Given the description of an element on the screen output the (x, y) to click on. 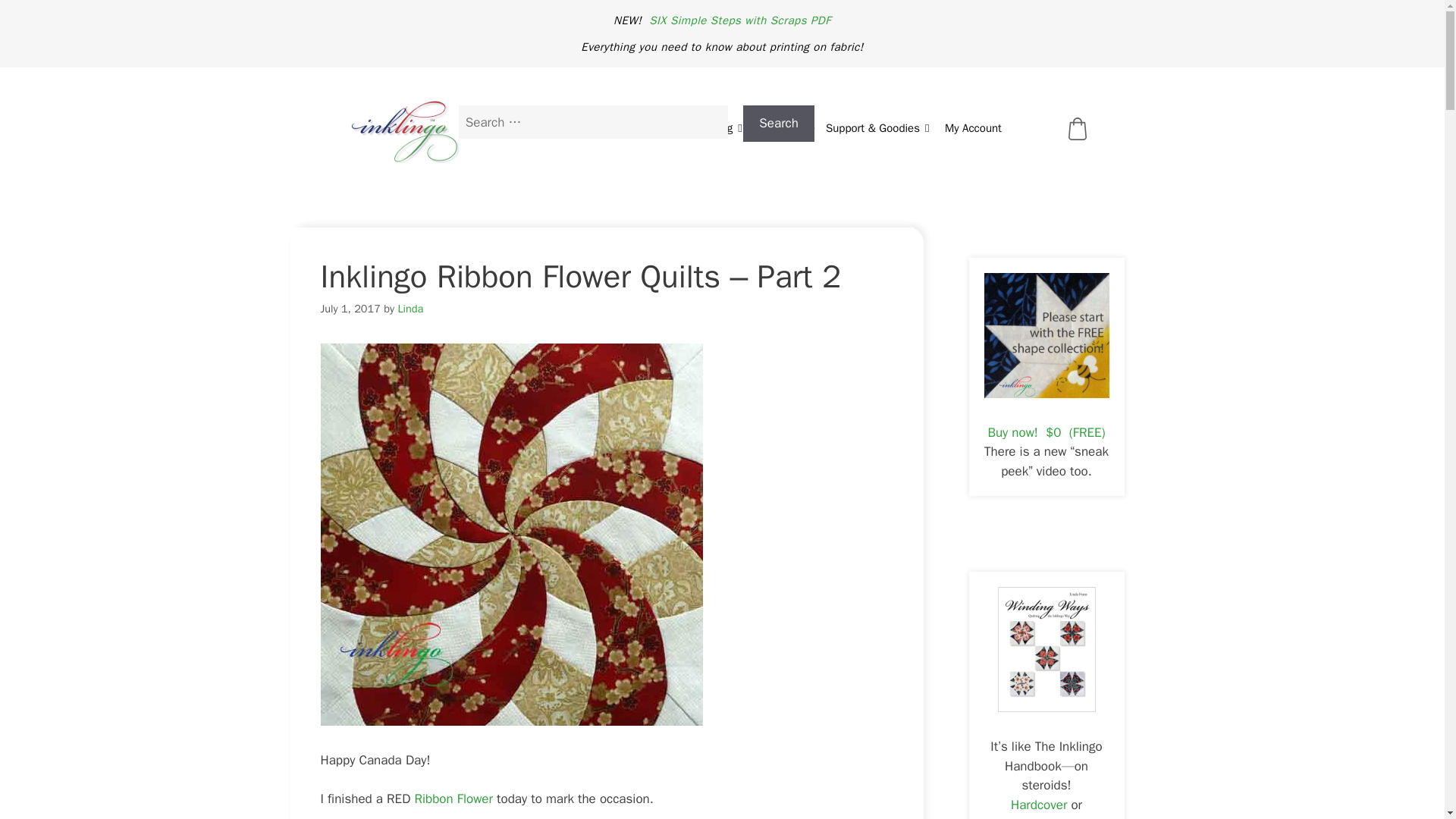
Search (777, 123)
Getting Started (547, 127)
Search (777, 123)
SIX Simple Steps with Scraps PDF (740, 20)
Search for: (593, 121)
View all posts by Linda (410, 308)
